Given the description of an element on the screen output the (x, y) to click on. 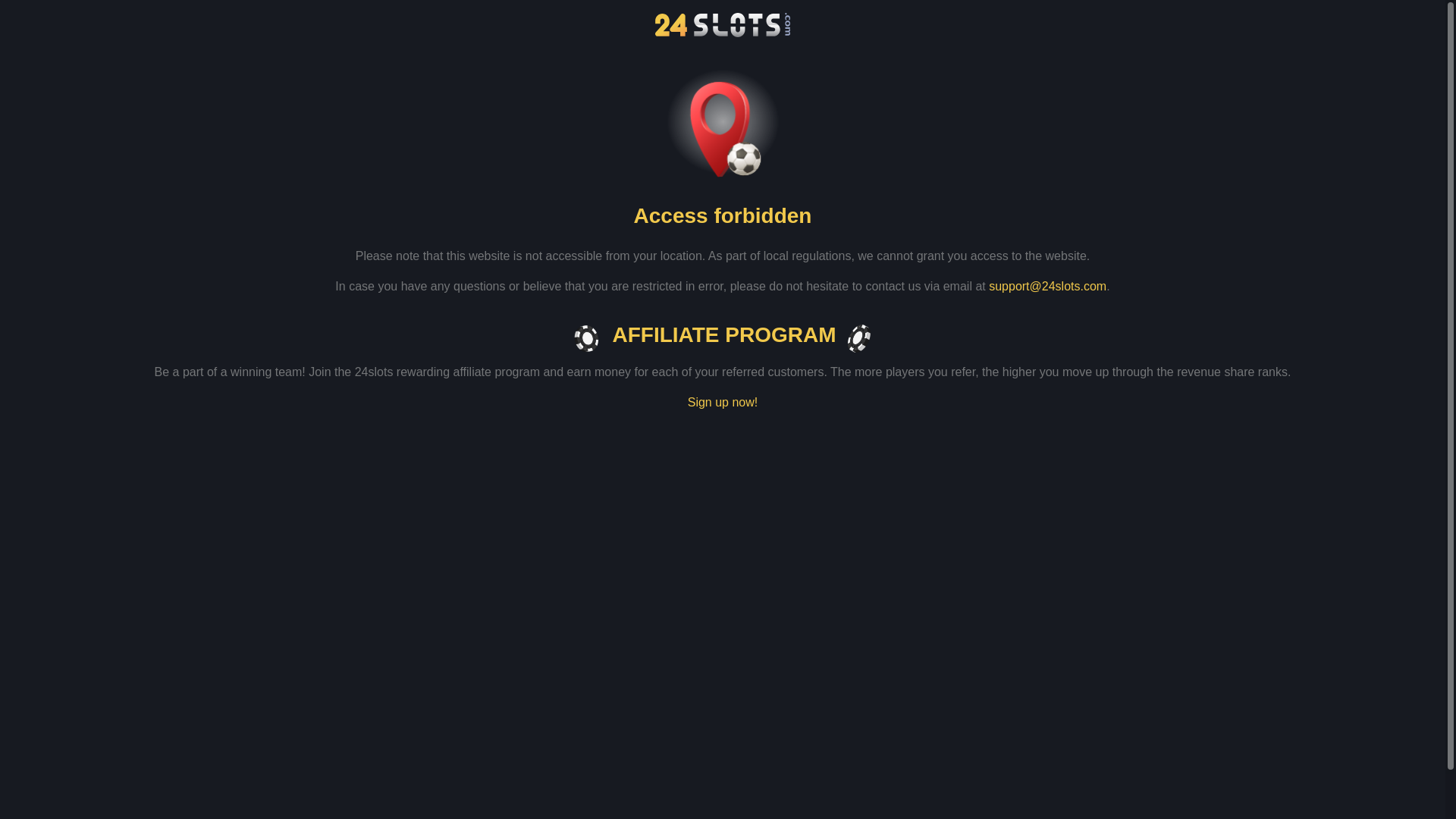
Sign up now! Element type: text (722, 402)
support@24slots.com Element type: text (1047, 285)
